Given the description of an element on the screen output the (x, y) to click on. 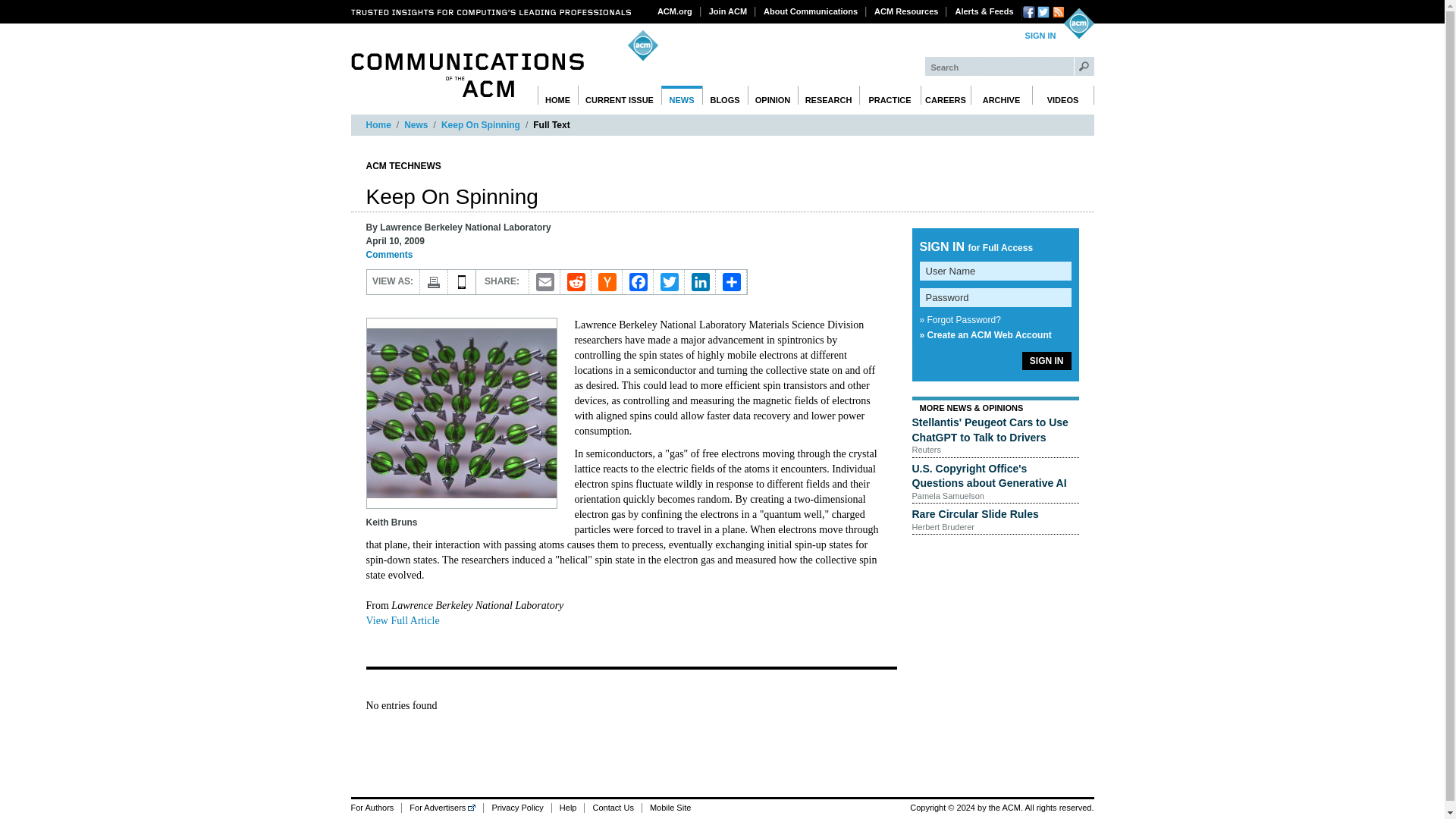
PRACTICE (889, 94)
ACM.org (674, 11)
Help (568, 808)
BLOGS (724, 94)
HOME (557, 94)
For Advertisers (442, 808)
RESEARCH (828, 94)
About Communications (810, 11)
ACM Resources (906, 11)
MOBILE APPS (461, 282)
Join ACM (727, 11)
ACM Resources (906, 11)
CURRENT ISSUE (620, 94)
Login (1041, 35)
SIGN IN (1041, 35)
